Given the description of an element on the screen output the (x, y) to click on. 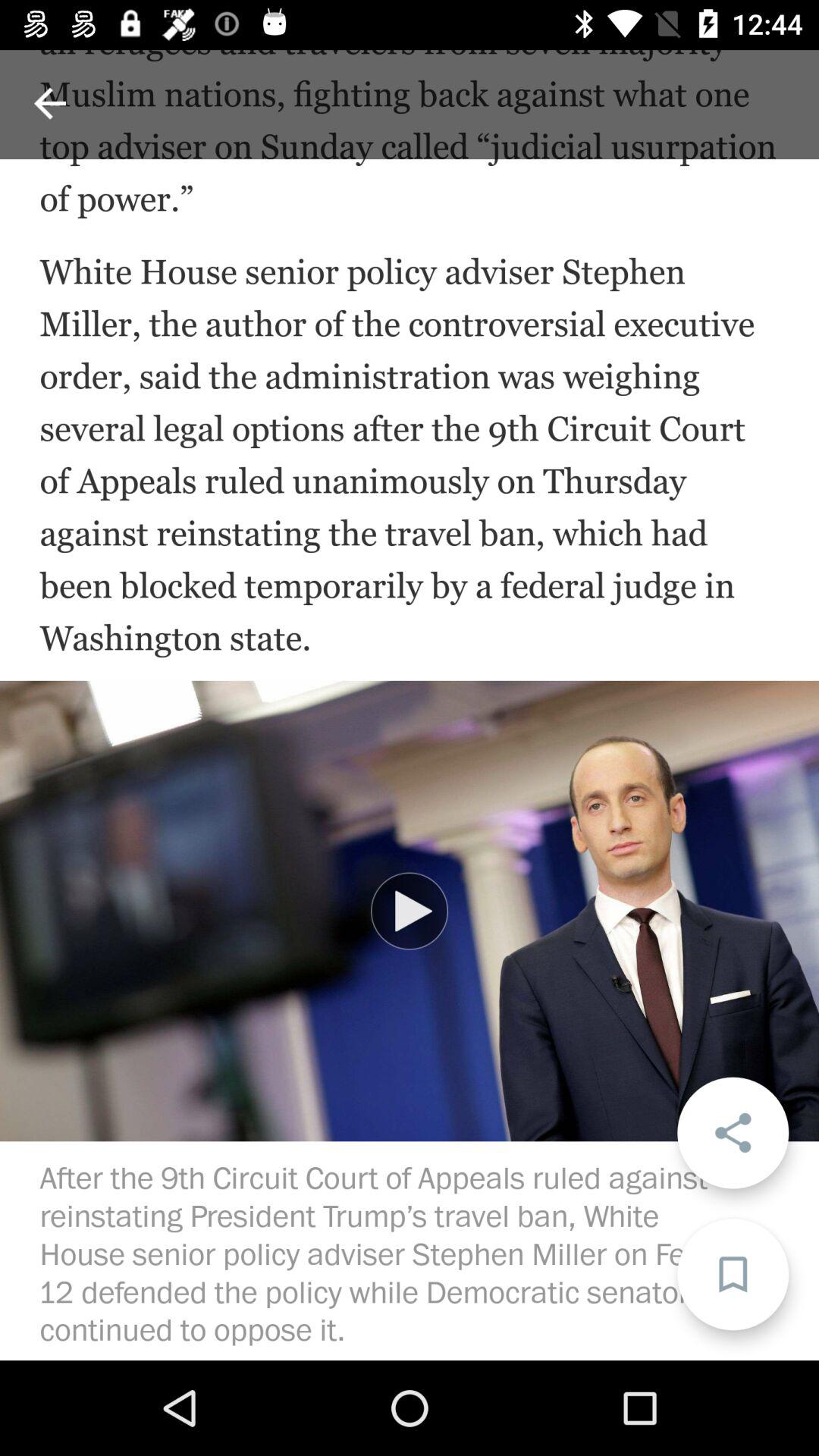
play video (409, 910)
